Given the description of an element on the screen output the (x, y) to click on. 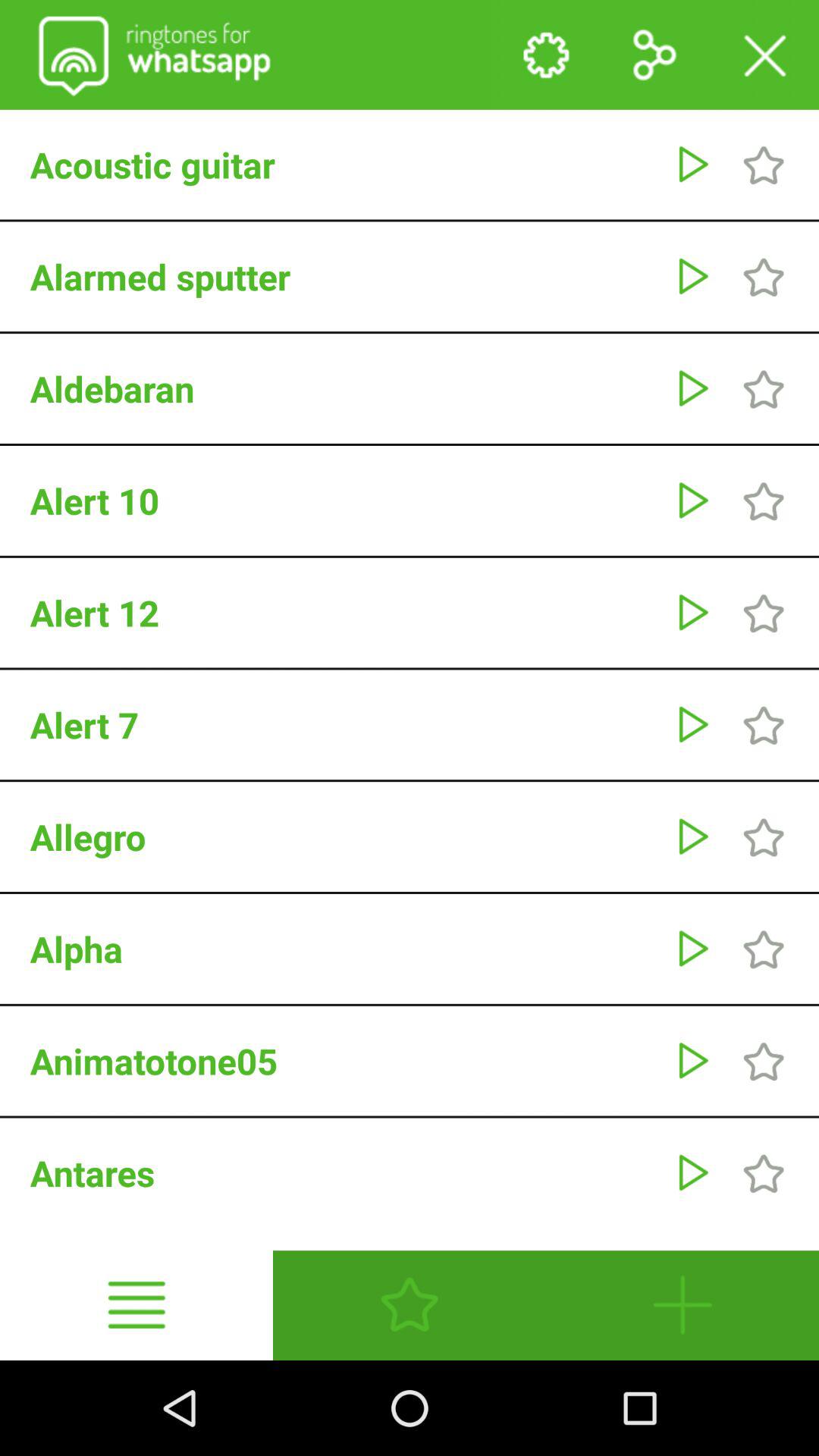
flip until the alarmed sputter icon (344, 276)
